Given the description of an element on the screen output the (x, y) to click on. 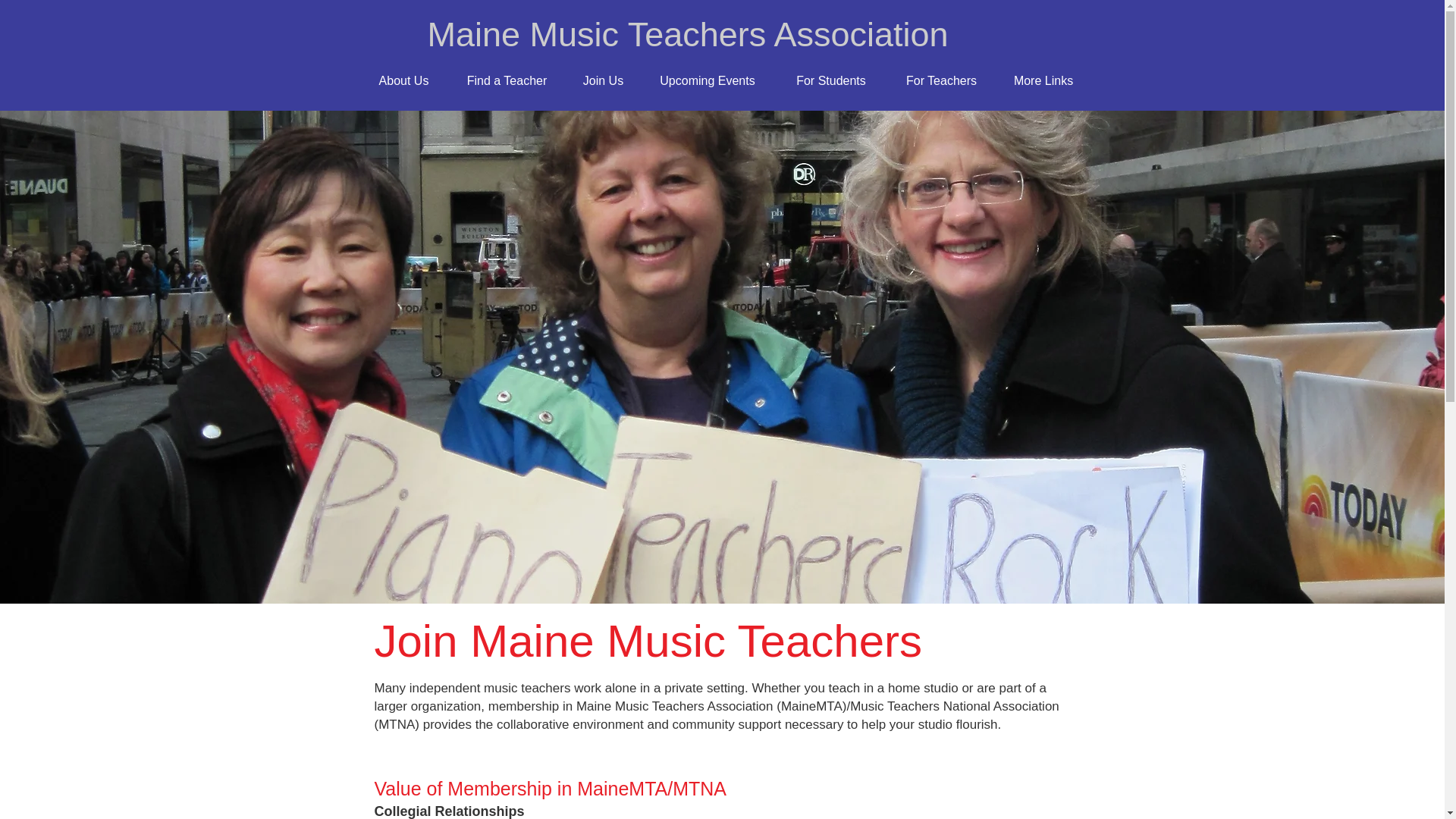
About Us (403, 81)
Find a Teacher (506, 81)
Upcoming Events (707, 81)
Maine Music Teachers  (601, 34)
Join Us (603, 81)
